Given the description of an element on the screen output the (x, y) to click on. 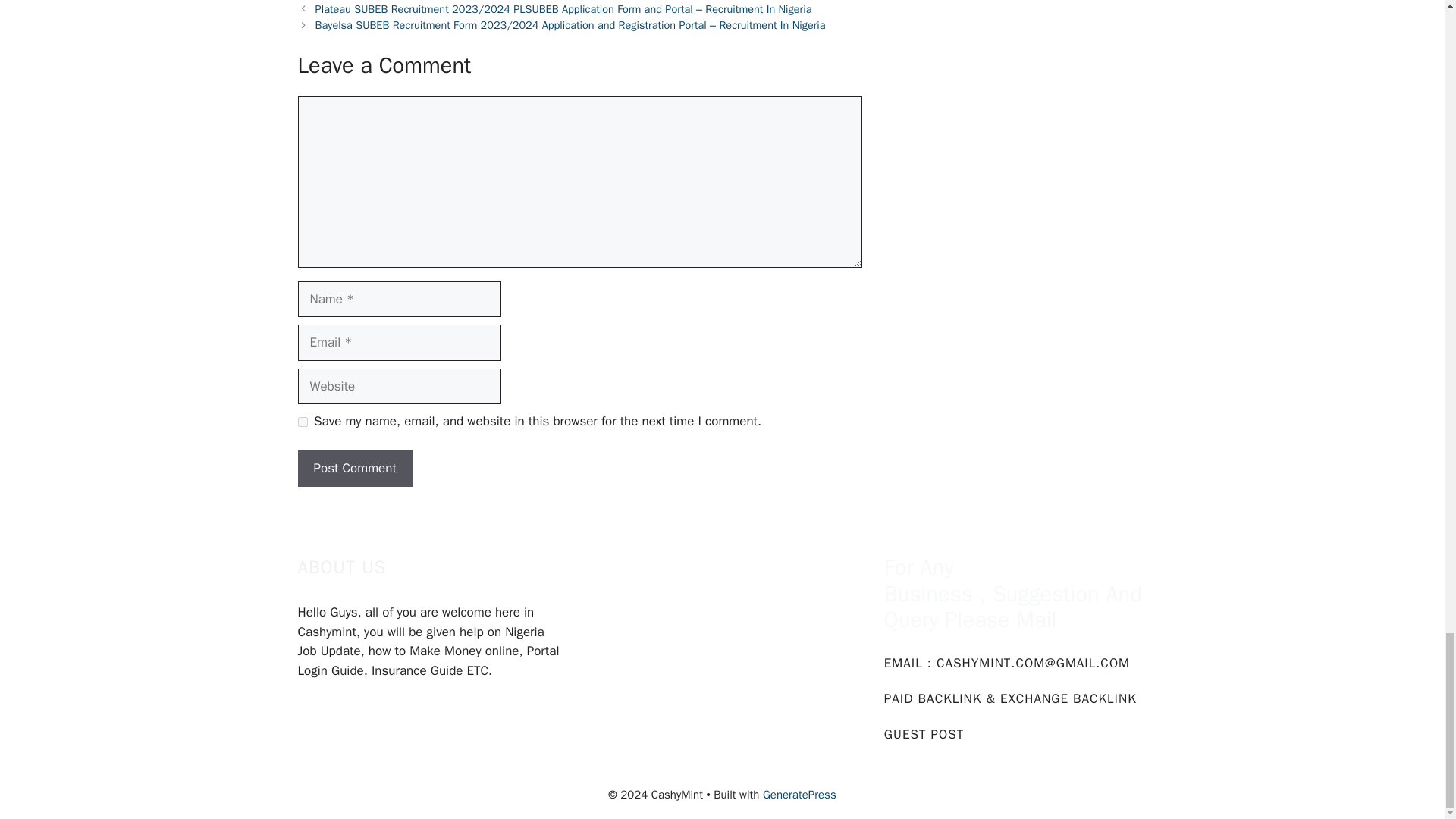
yes (302, 421)
Post Comment (354, 468)
Post Comment (354, 468)
